Given the description of an element on the screen output the (x, y) to click on. 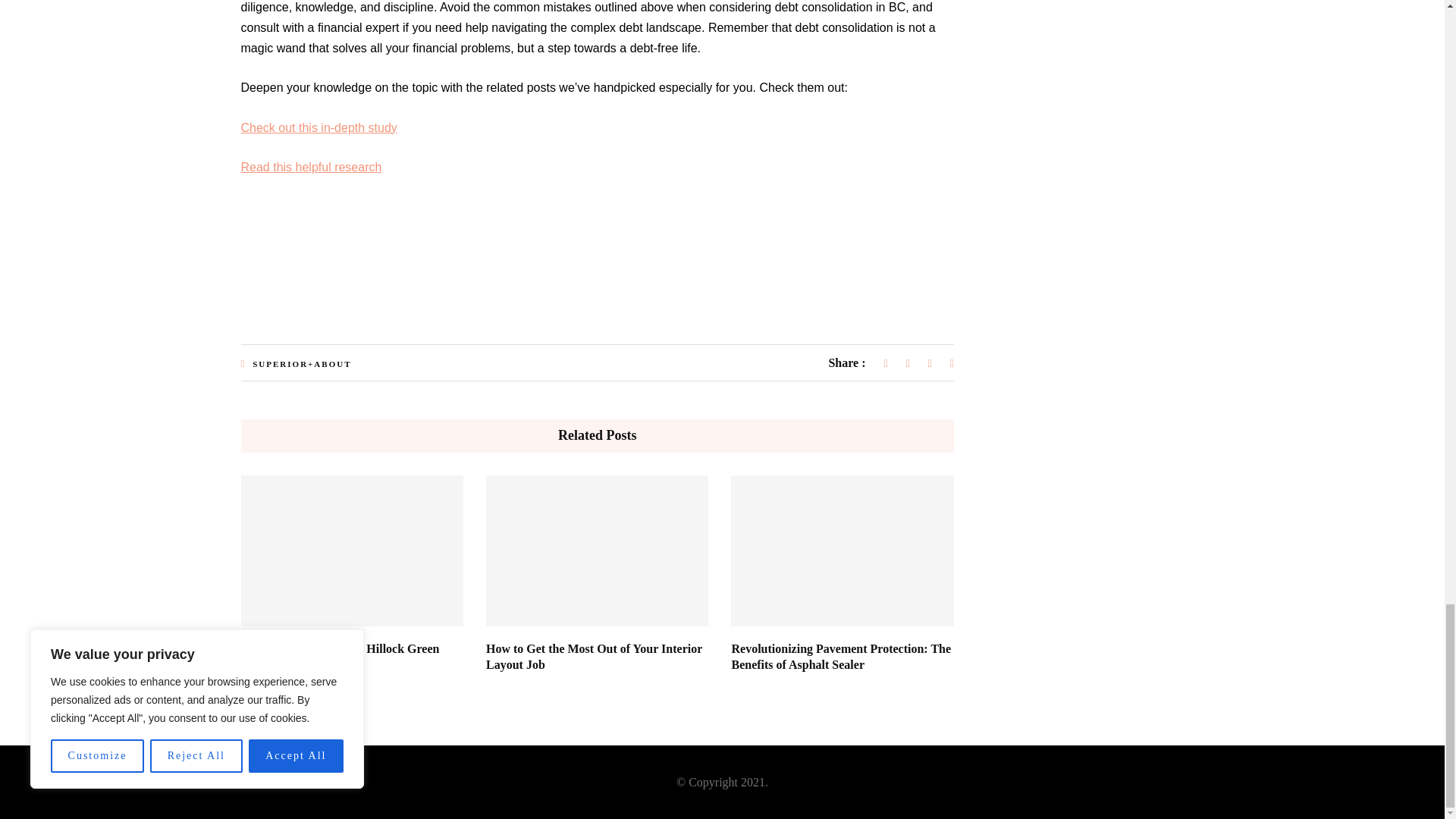
Check out this in-depth study (319, 127)
Read this helpful research (311, 166)
The Beauty of Living in Hillock Green Condominium (340, 656)
How to Get the Most Out of Your Interior Layout Job (593, 656)
